Given the description of an element on the screen output the (x, y) to click on. 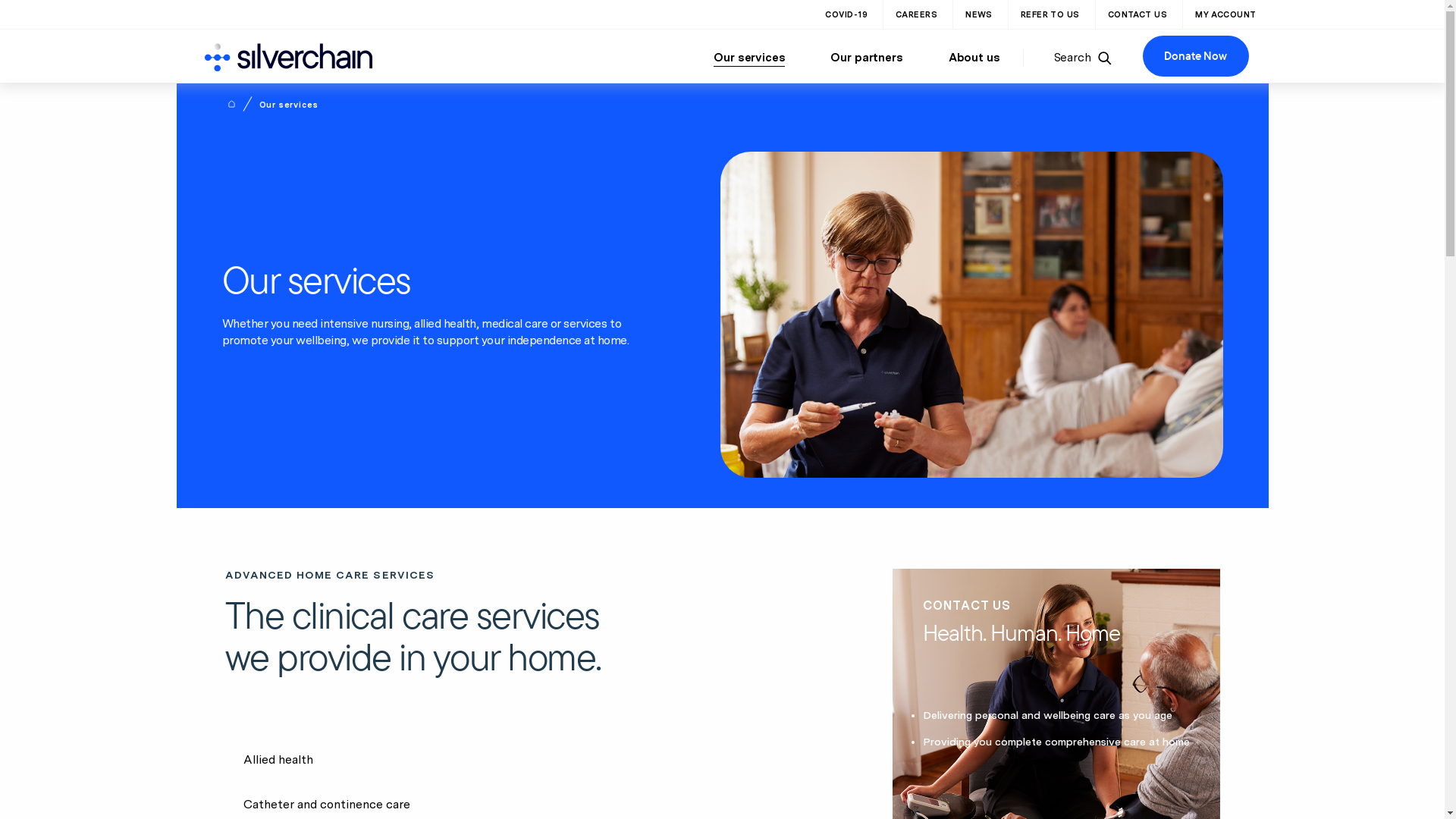
About us Element type: text (973, 57)
NEWS Element type: text (978, 14)
Our partners Element type: text (866, 57)
CONTACT US Element type: text (1137, 14)
REFER TO US Element type: text (1050, 14)
Home Element type: text (230, 103)
Our services Element type: text (748, 57)
Allied health Element type: text (428, 759)
Donate Now Element type: text (1195, 55)
COVID-19 Element type: text (845, 14)
Our services Element type: text (288, 104)
MY ACCOUNT Element type: text (1225, 14)
CAREERS Element type: text (916, 14)
